Given the description of an element on the screen output the (x, y) to click on. 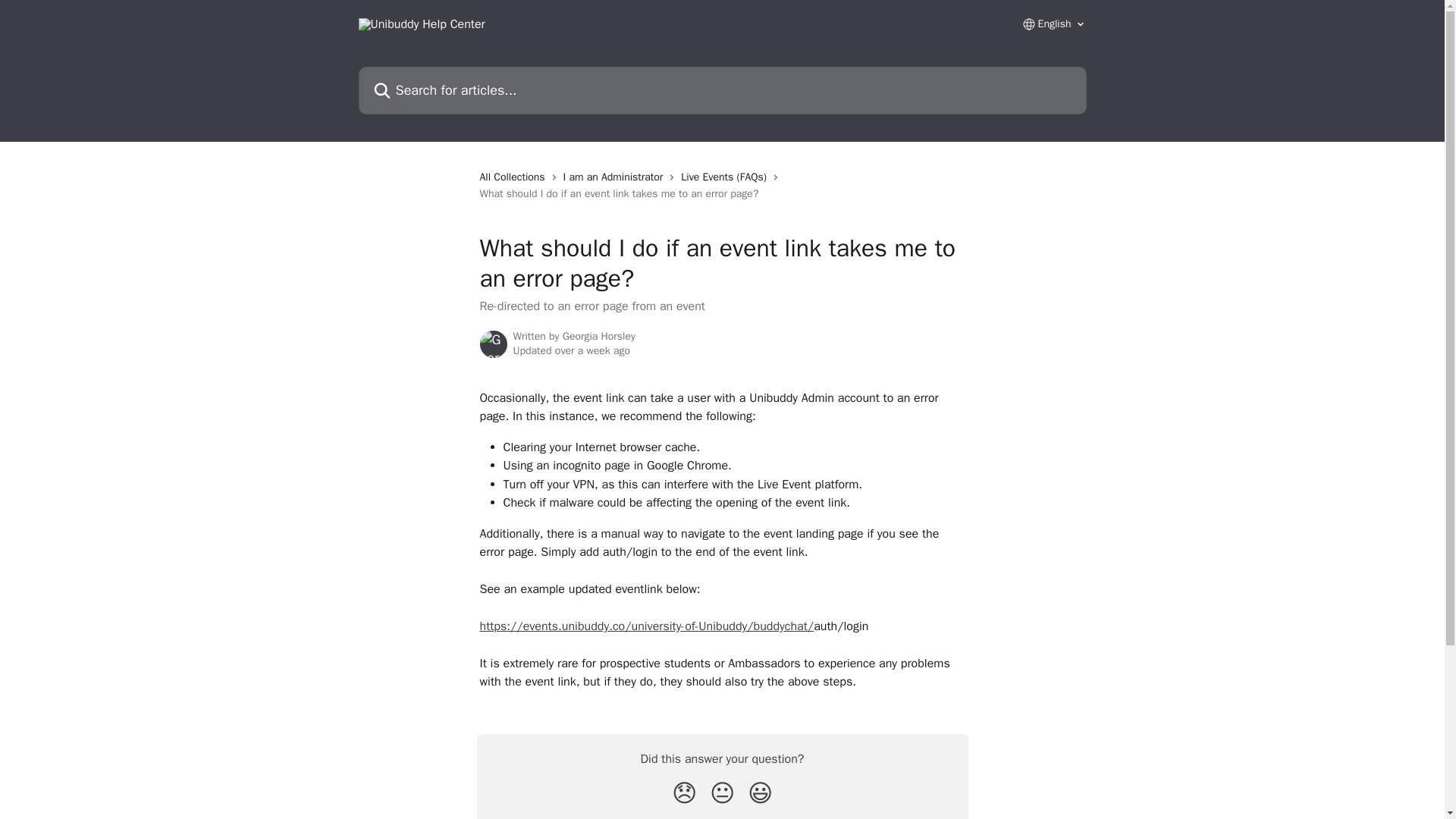
All Collections (514, 176)
Disappointed (684, 793)
Smiley (760, 793)
Neutral (722, 793)
I am an Administrator (616, 176)
